Given the description of an element on the screen output the (x, y) to click on. 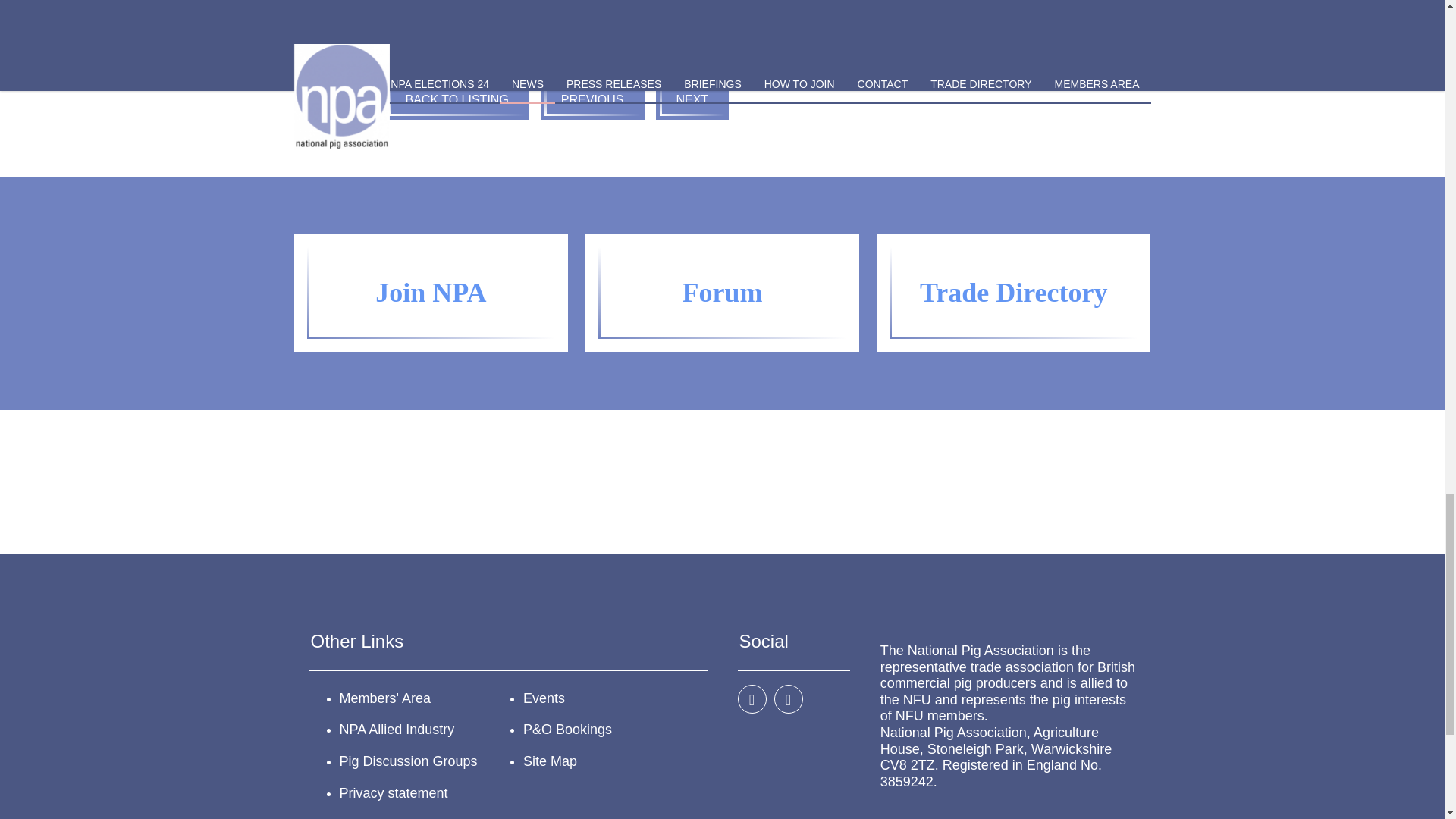
Forum (721, 292)
Members' Area (384, 698)
Privacy statement (393, 792)
BACK TO LISTING (457, 99)
Events (543, 698)
PREVIOUS (592, 99)
Join NPA (430, 292)
Pig Discussion Groups (408, 761)
NPA Allied Industry (396, 729)
Trade Directory (1014, 292)
